Given the description of an element on the screen output the (x, y) to click on. 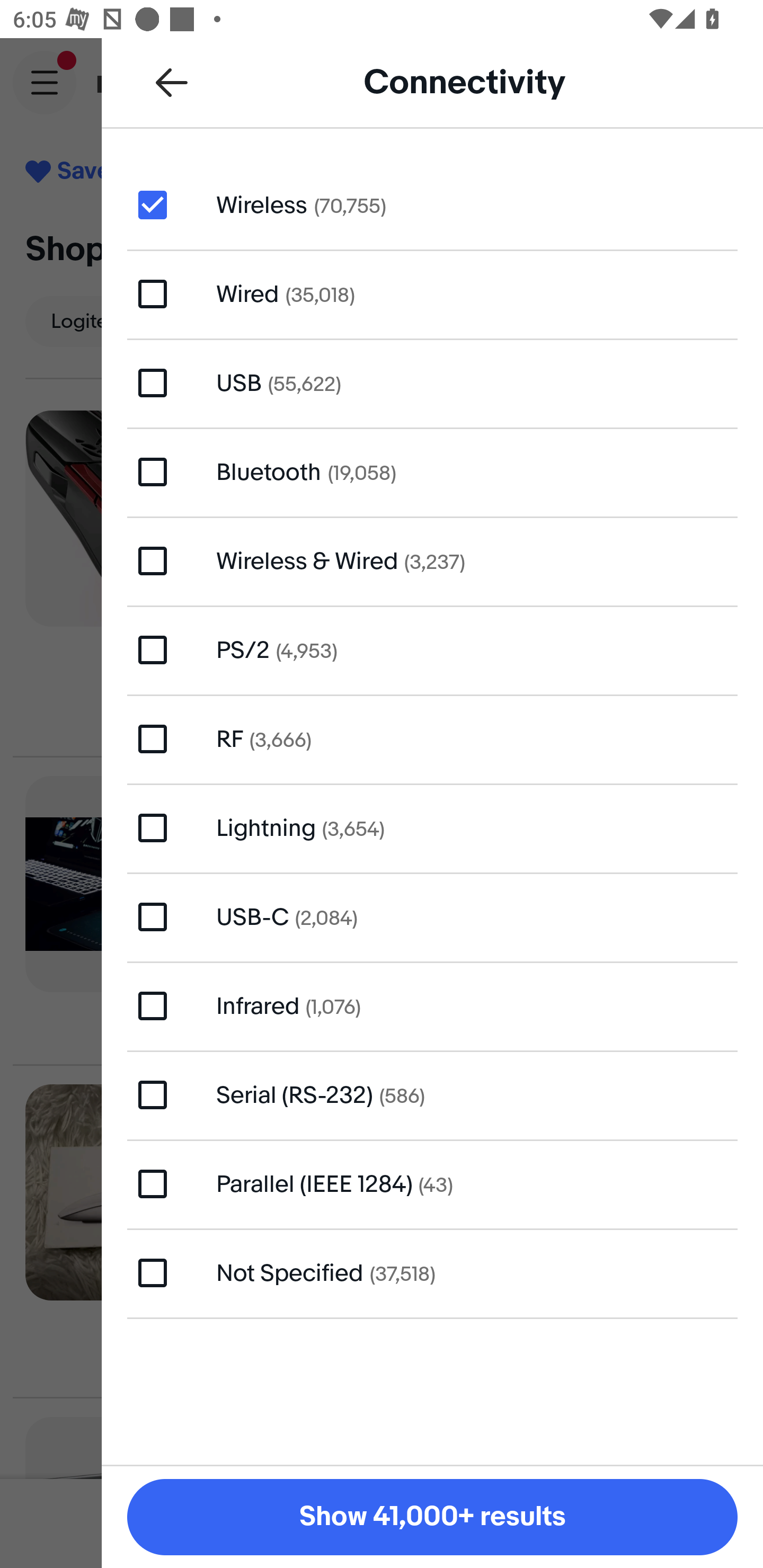
Back to all refinements (171, 81)
Wireless (70,755) (432, 204)
Wired (35,018) (432, 293)
USB (55,622) (432, 383)
Bluetooth (19,058) (432, 471)
Wireless & Wired (3,237) (432, 560)
PS/2 (4,953) (432, 649)
RF (3,666) (432, 739)
Lightning (3,654) (432, 827)
USB-C (2,084) (432, 916)
Infrared (1,076) (432, 1005)
Serial (RS-232) (586) (432, 1094)
Parallel (IEEE 1284) (43) (432, 1183)
Not Specified (37,518) (432, 1272)
Show 41,000+ results (432, 1516)
